Given the description of an element on the screen output the (x, y) to click on. 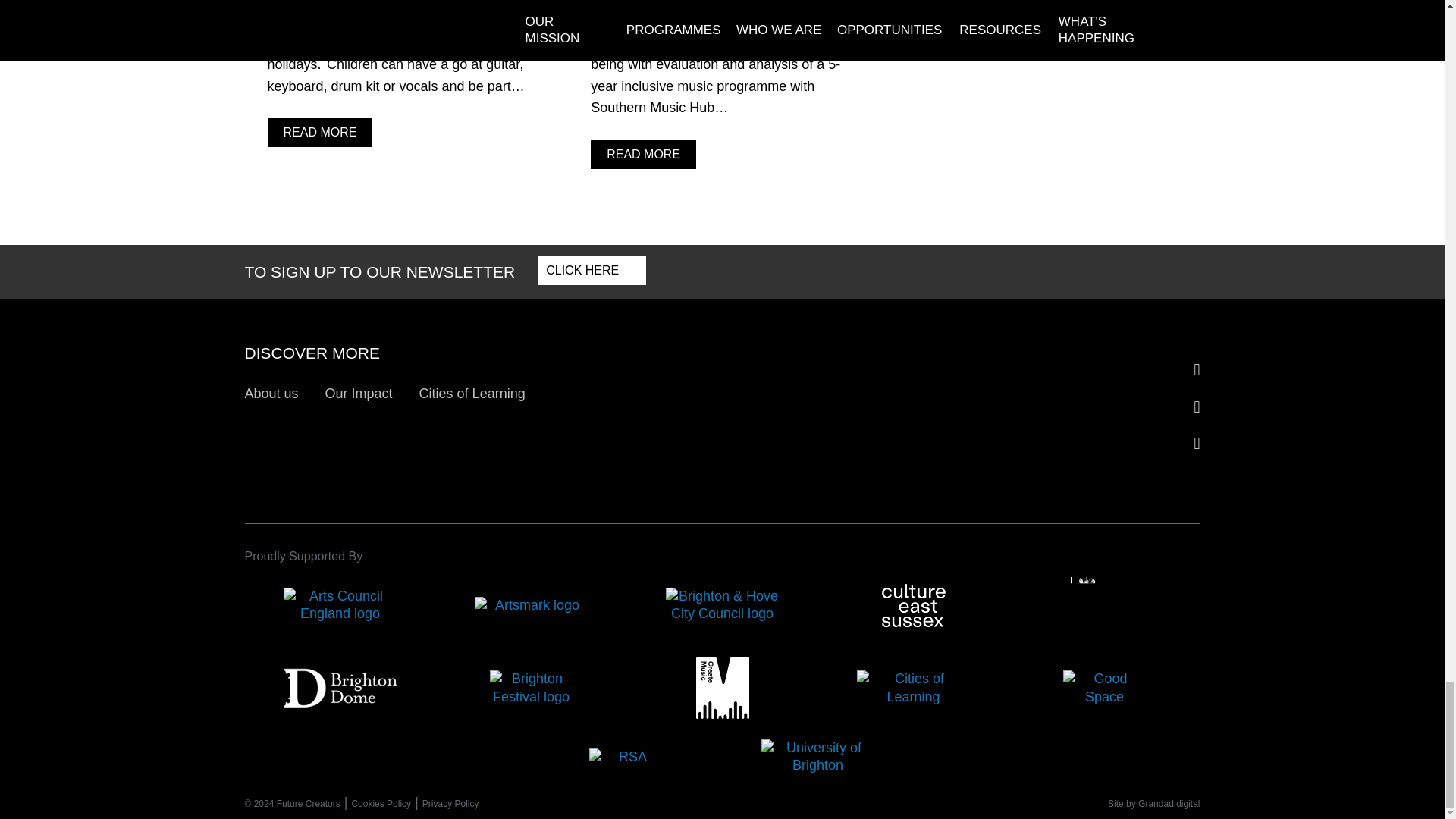
CLICK HERE (591, 270)
Cities of Learning (475, 393)
About us (274, 393)
Our Impact (362, 393)
